Given the description of an element on the screen output the (x, y) to click on. 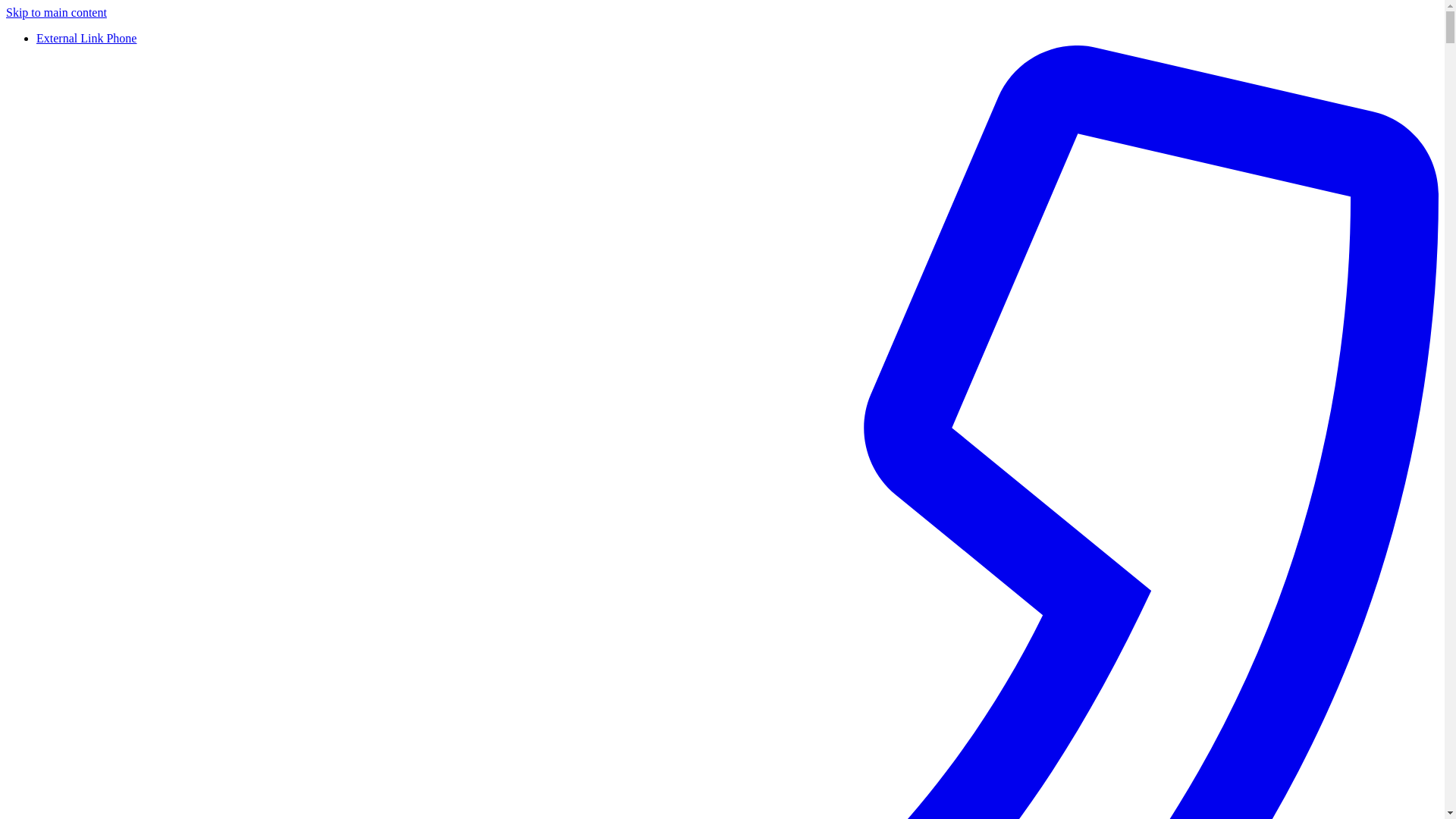
Skip to main content Element type: text (56, 12)
